Given the description of an element on the screen output the (x, y) to click on. 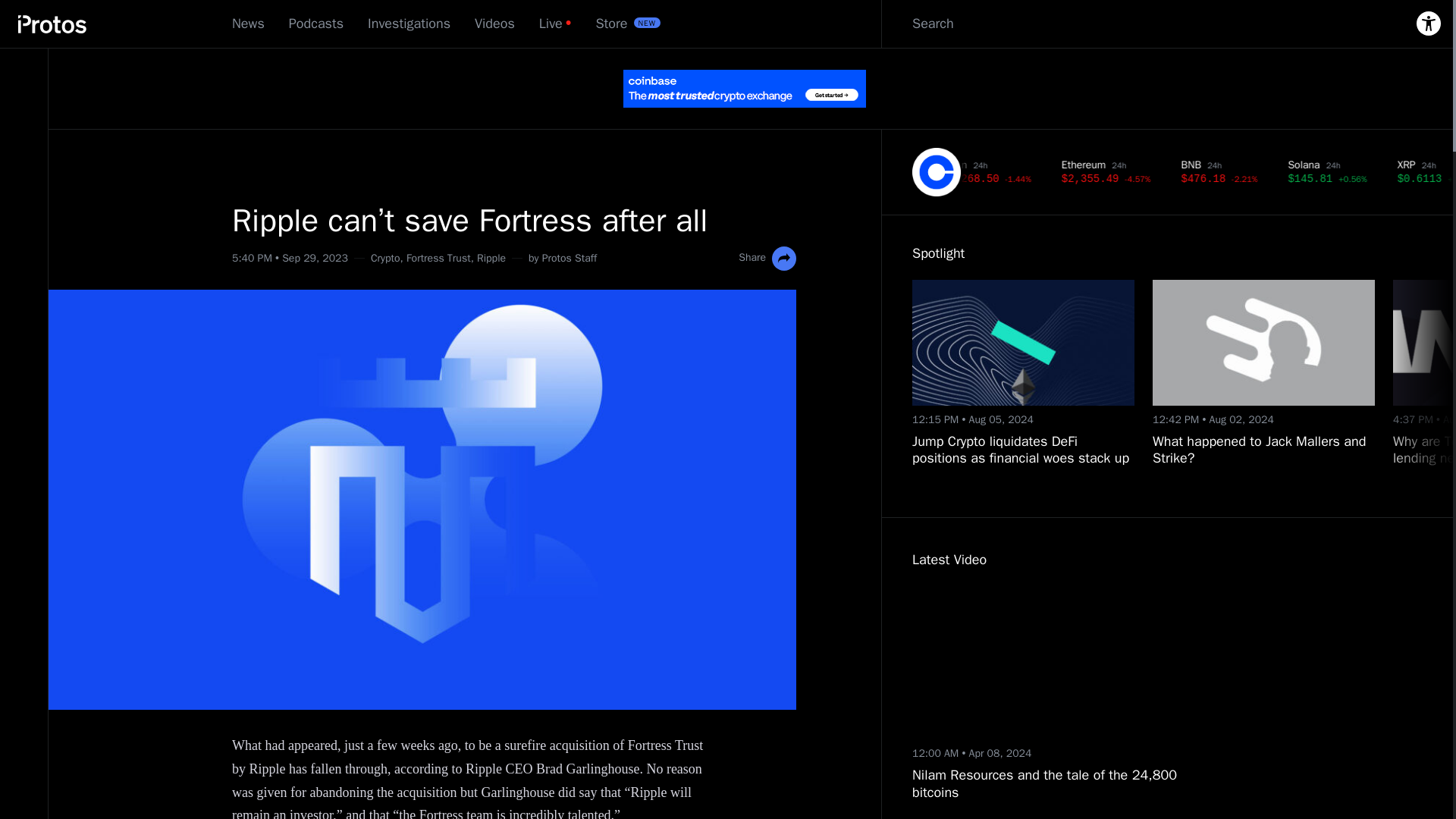
Investigations (408, 23)
Fortress Trust (438, 258)
Crypto (385, 258)
Ripple (491, 258)
Podcasts (315, 23)
Protos Staff (568, 258)
